Given the description of an element on the screen output the (x, y) to click on. 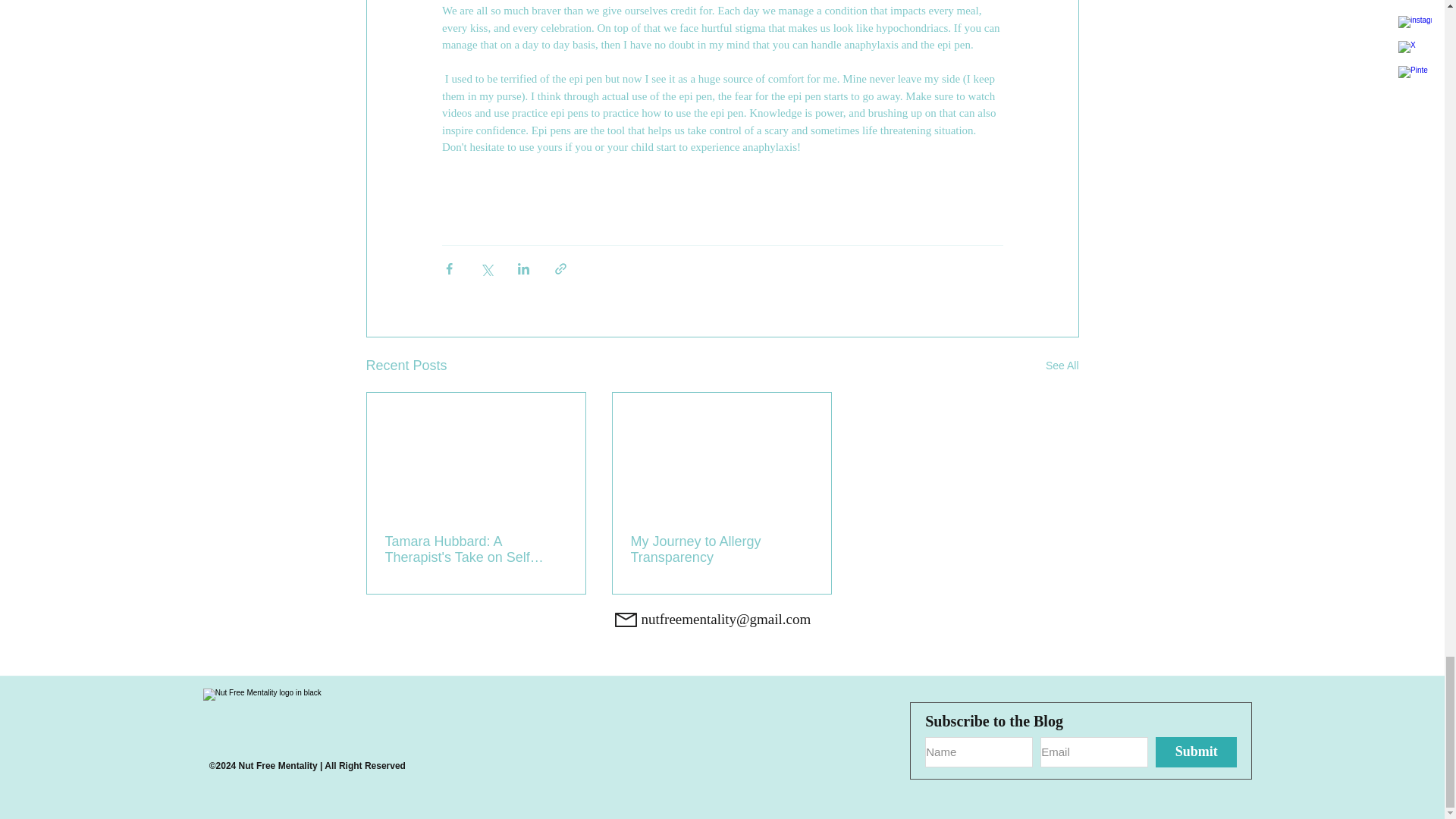
My Journey to Allergy Transparency (721, 549)
Submit (1196, 752)
See All (1061, 365)
